Given the description of an element on the screen output the (x, y) to click on. 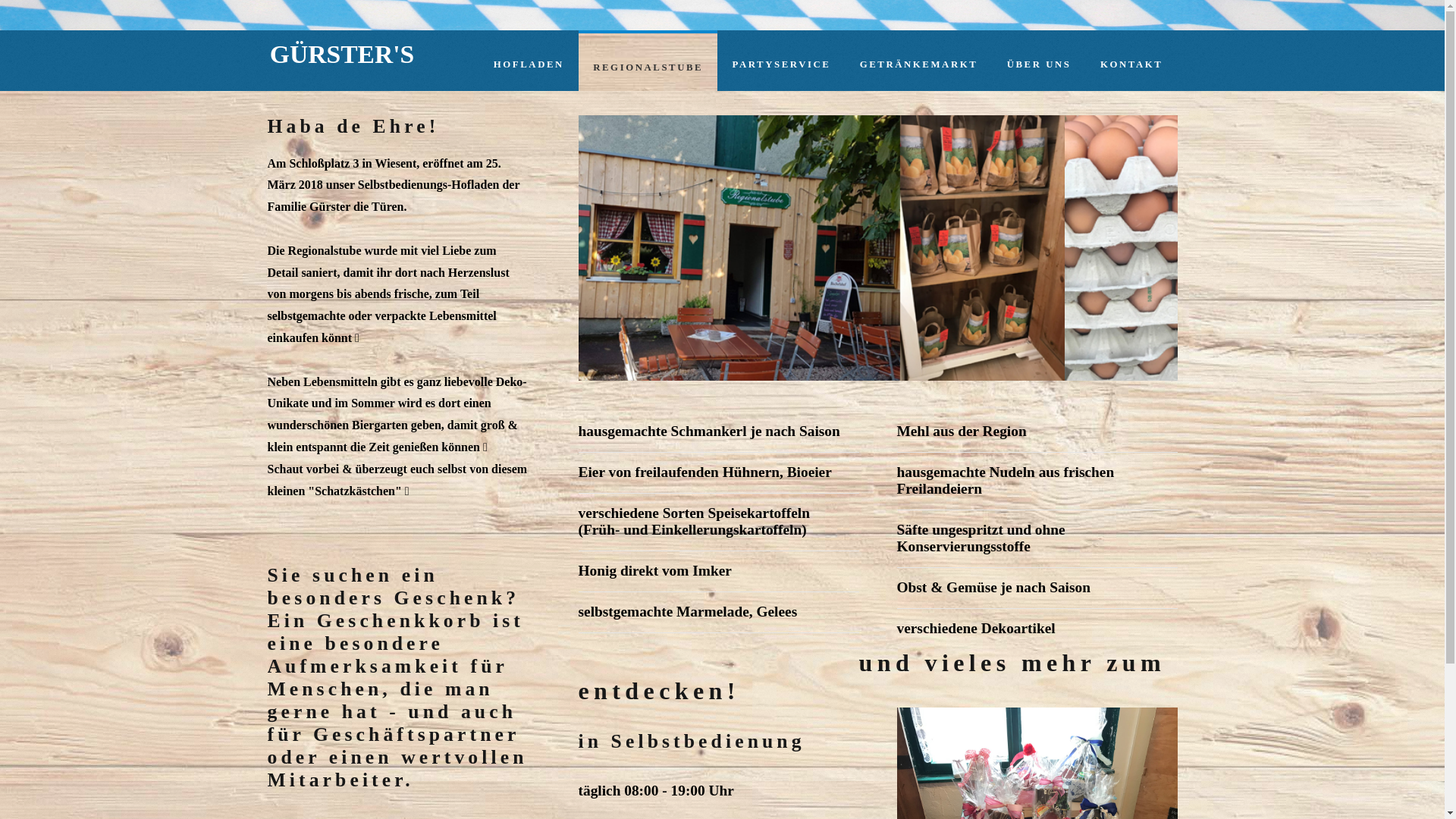
HOFLADEN Element type: text (528, 87)
REGIONALSTUBE Element type: text (647, 88)
PARTYSERVICE Element type: text (780, 87)
KONTAKT Element type: text (1131, 87)
